Given the description of an element on the screen output the (x, y) to click on. 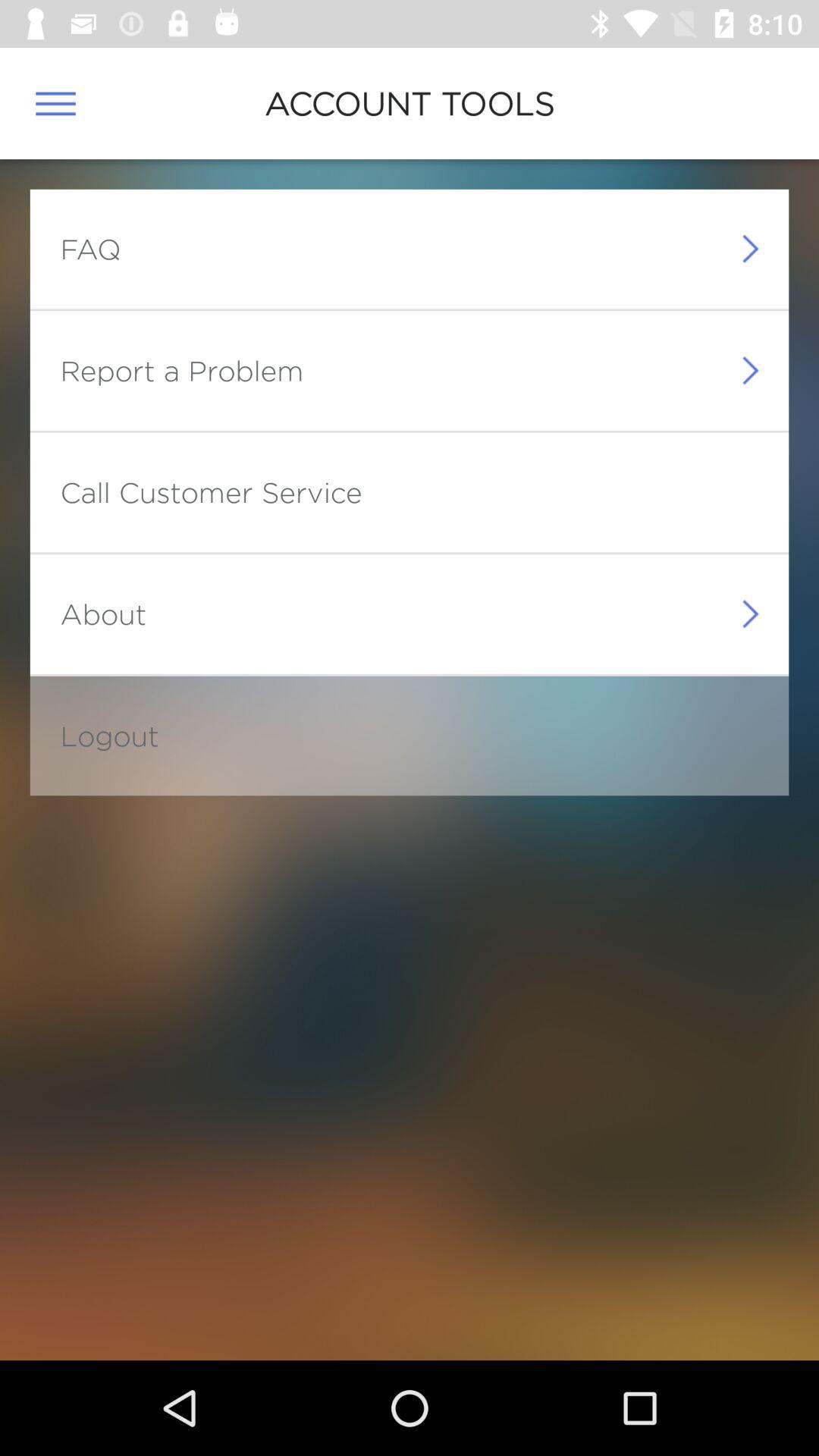
open the item above the logout app (103, 613)
